Given the description of an element on the screen output the (x, y) to click on. 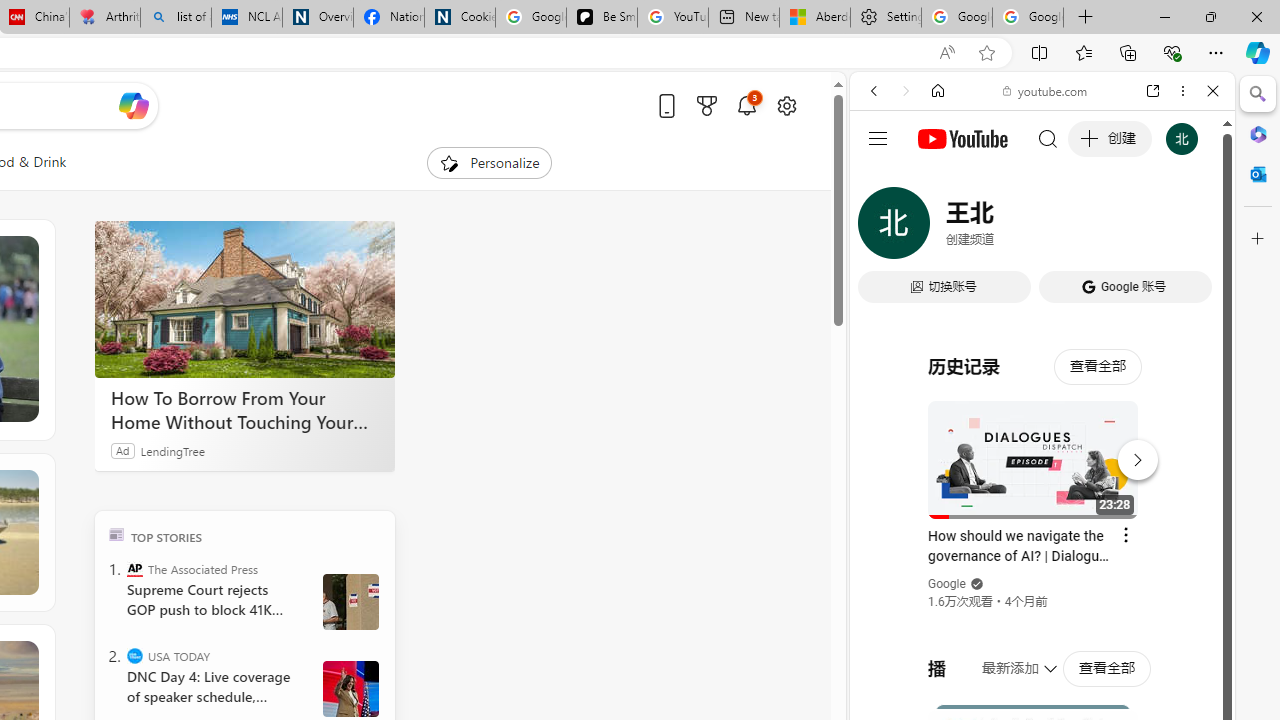
Trailer #2 [HD] (1042, 594)
Search the web (1051, 137)
Trailer #2 [HD] (1042, 592)
Microsoft 365 (1258, 133)
Copilot (Ctrl+Shift+.) (1258, 52)
Google (1042, 494)
Ad (123, 450)
How To Borrow From Your Home Without Touching Your Mortgage (244, 409)
Web scope (882, 180)
list of asthma inhalers uk - Search (175, 17)
